Given the description of an element on the screen output the (x, y) to click on. 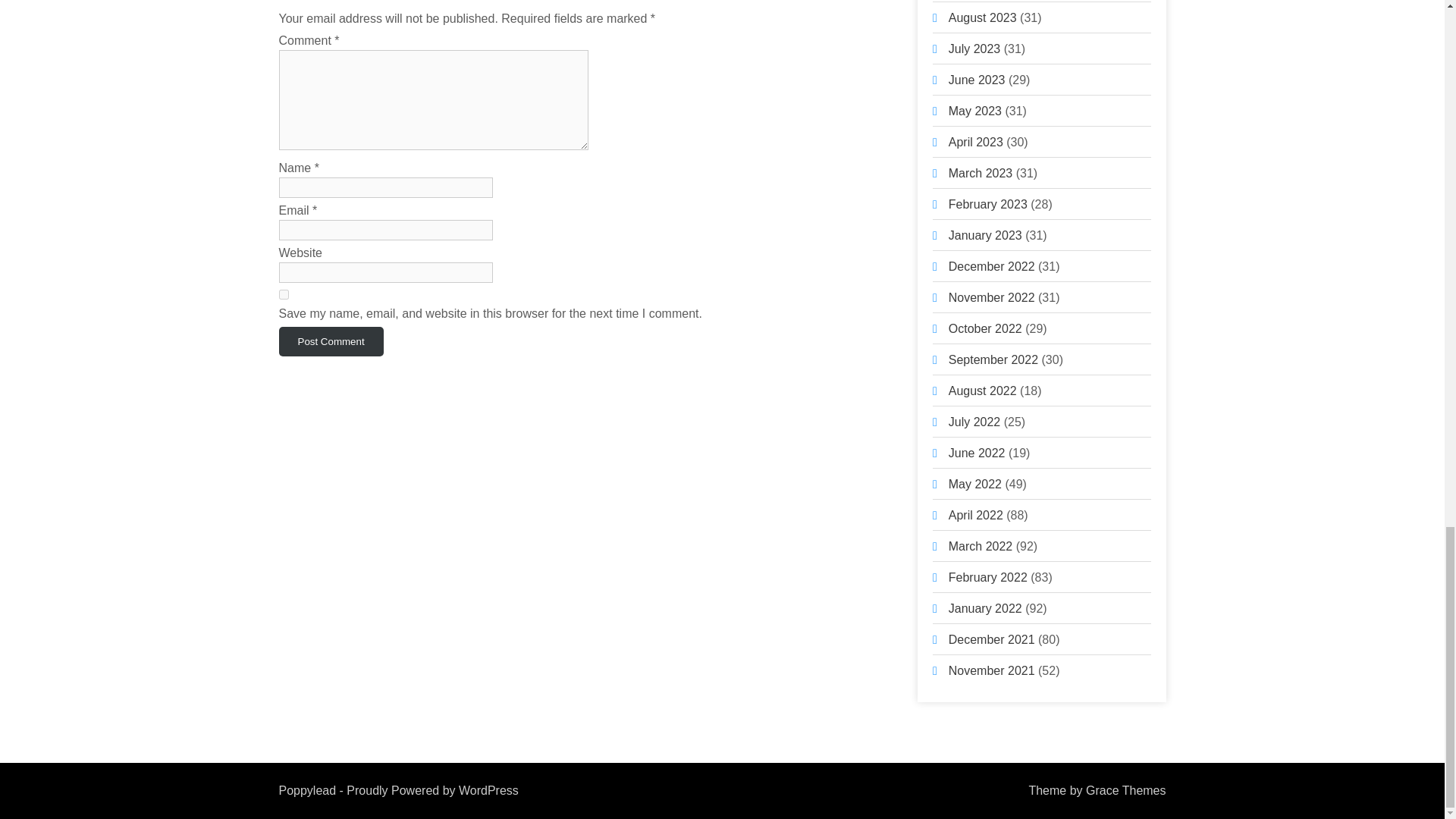
August 2022 (982, 390)
Post Comment (331, 341)
yes (283, 294)
September 2022 (993, 359)
February 2022 (988, 576)
March 2022 (981, 545)
May 2023 (975, 110)
April 2023 (976, 141)
July 2023 (975, 48)
February 2023 (988, 204)
